Given the description of an element on the screen output the (x, y) to click on. 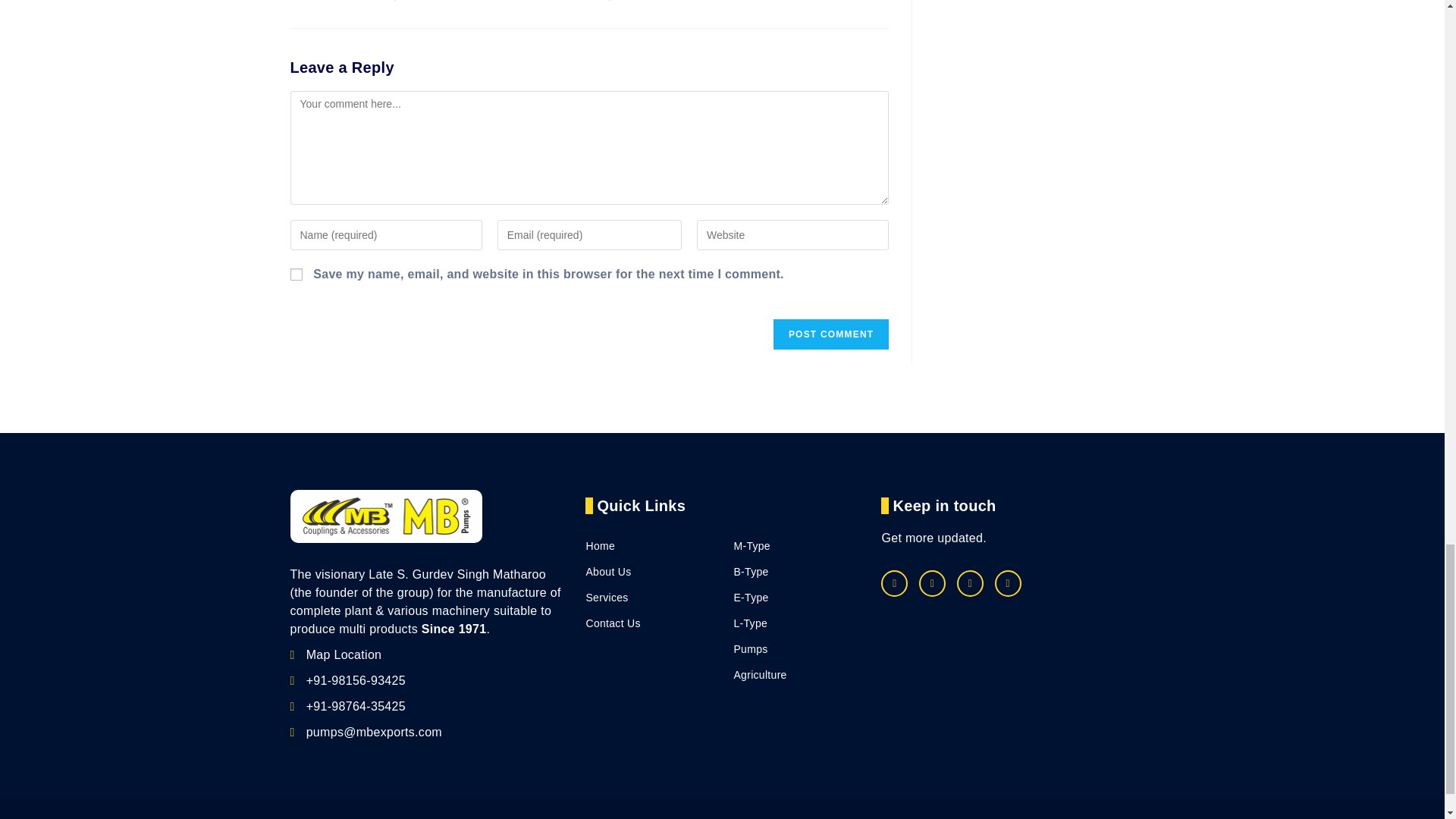
Post Comment (830, 334)
yes (295, 274)
Post Comment (830, 334)
Map Location (335, 654)
